Given the description of an element on the screen output the (x, y) to click on. 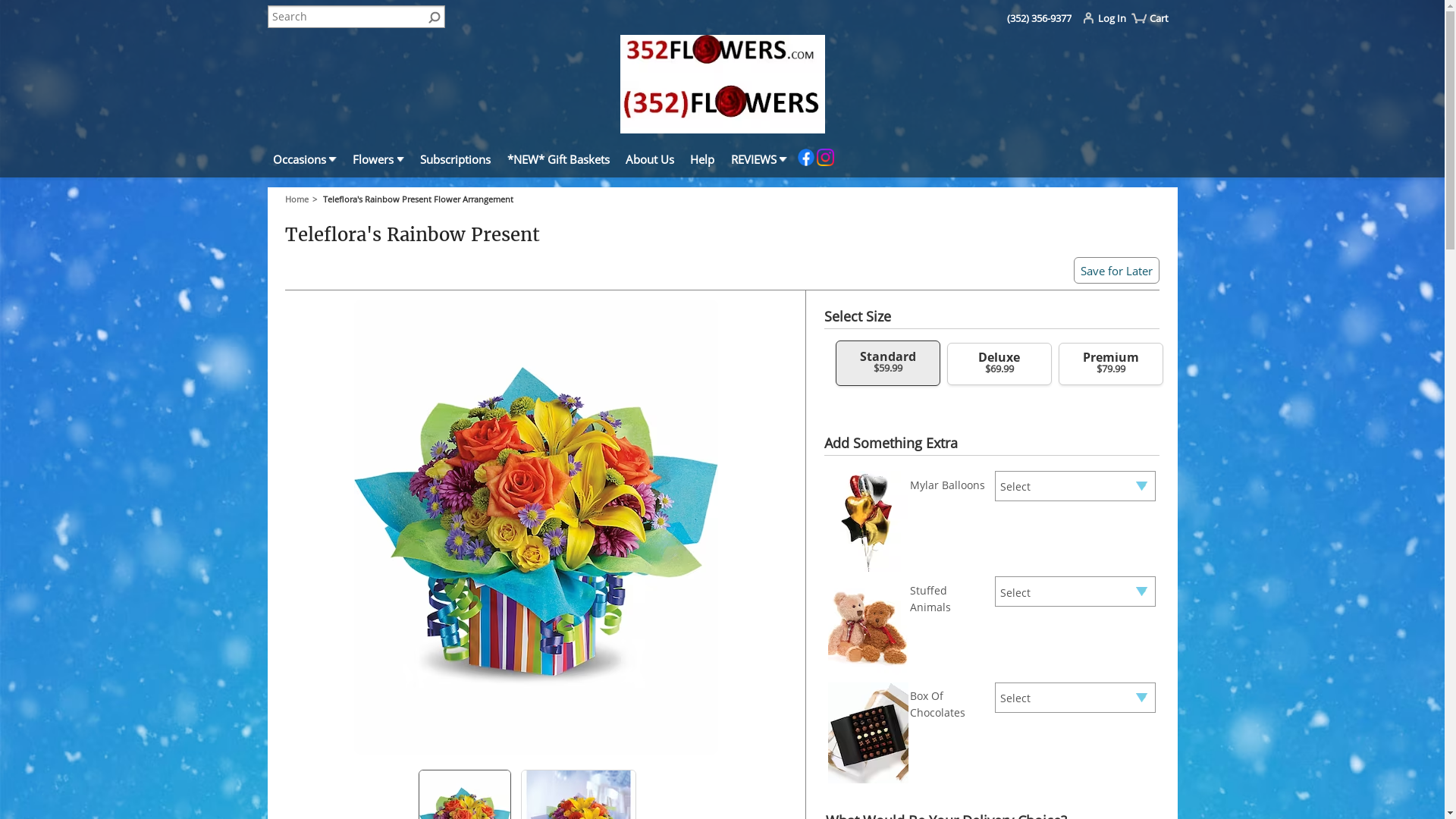
(352) 356-9377 Element type: text (1039, 18)
Occasions Element type: text (304, 161)
Subscriptions Element type: text (455, 161)
Save for Later Element type: text (1116, 269)
Search Element type: hover (355, 16)
Go Element type: hover (434, 15)
Cart Element type: text (1156, 23)
add to cart Element type: text (167, 23)
Teleflora'S Rainbow Present Flower Arrangement Element type: text (418, 198)
*NEW* Gift Baskets Element type: text (558, 161)
Help Element type: text (702, 161)
Flowers Element type: text (378, 161)
About Us Element type: text (650, 161)
Home Element type: text (302, 198)
REVIEWS Element type: text (758, 161)
Log In Element type: text (1108, 21)
